Given the description of an element on the screen output the (x, y) to click on. 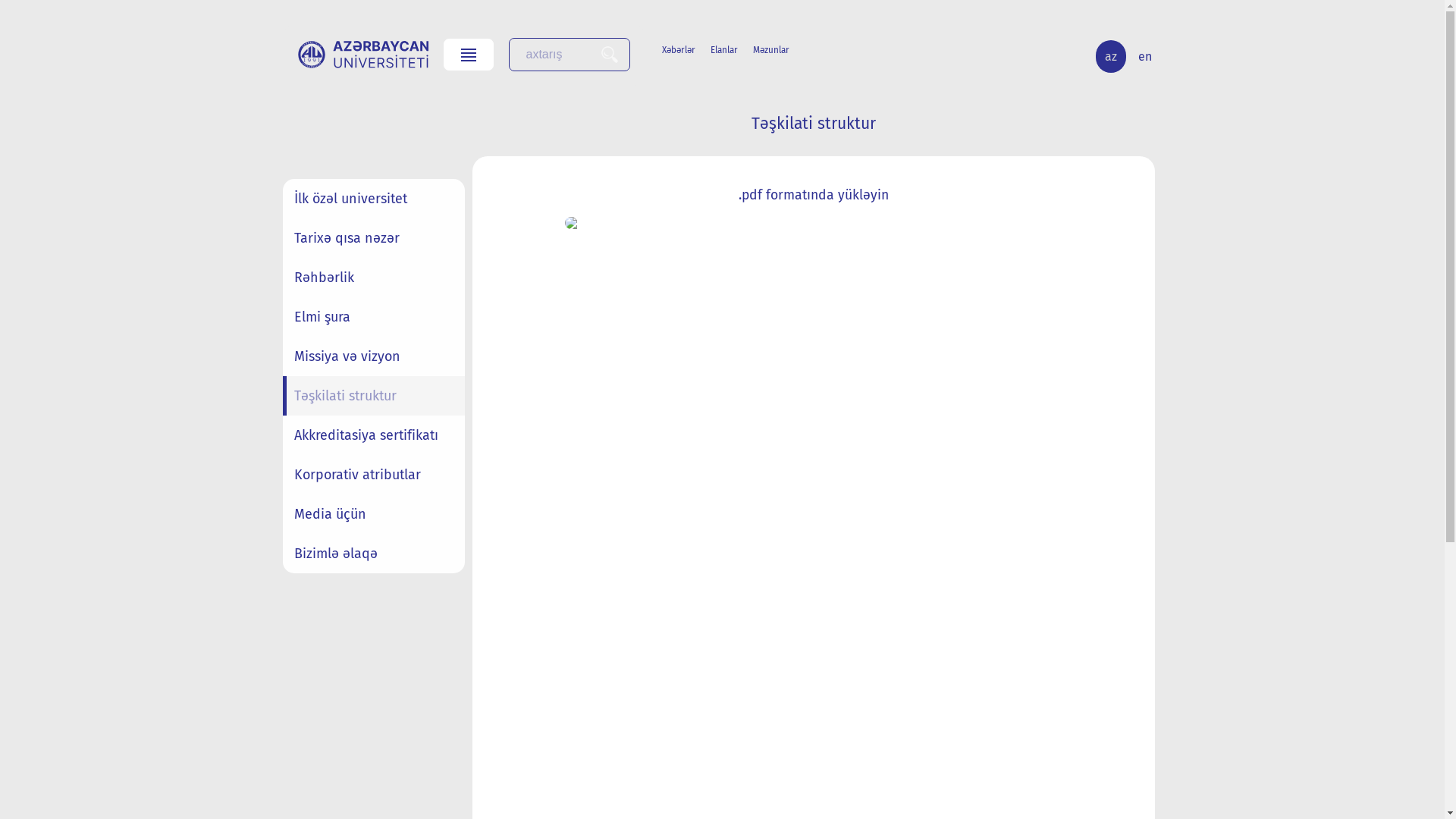
en Element type: text (1144, 56)
MainPage Element type: hover (362, 54)
Elanlar Element type: text (730, 49)
Korporativ atributlar Element type: text (373, 474)
az Element type: text (1110, 56)
